Given the description of an element on the screen output the (x, y) to click on. 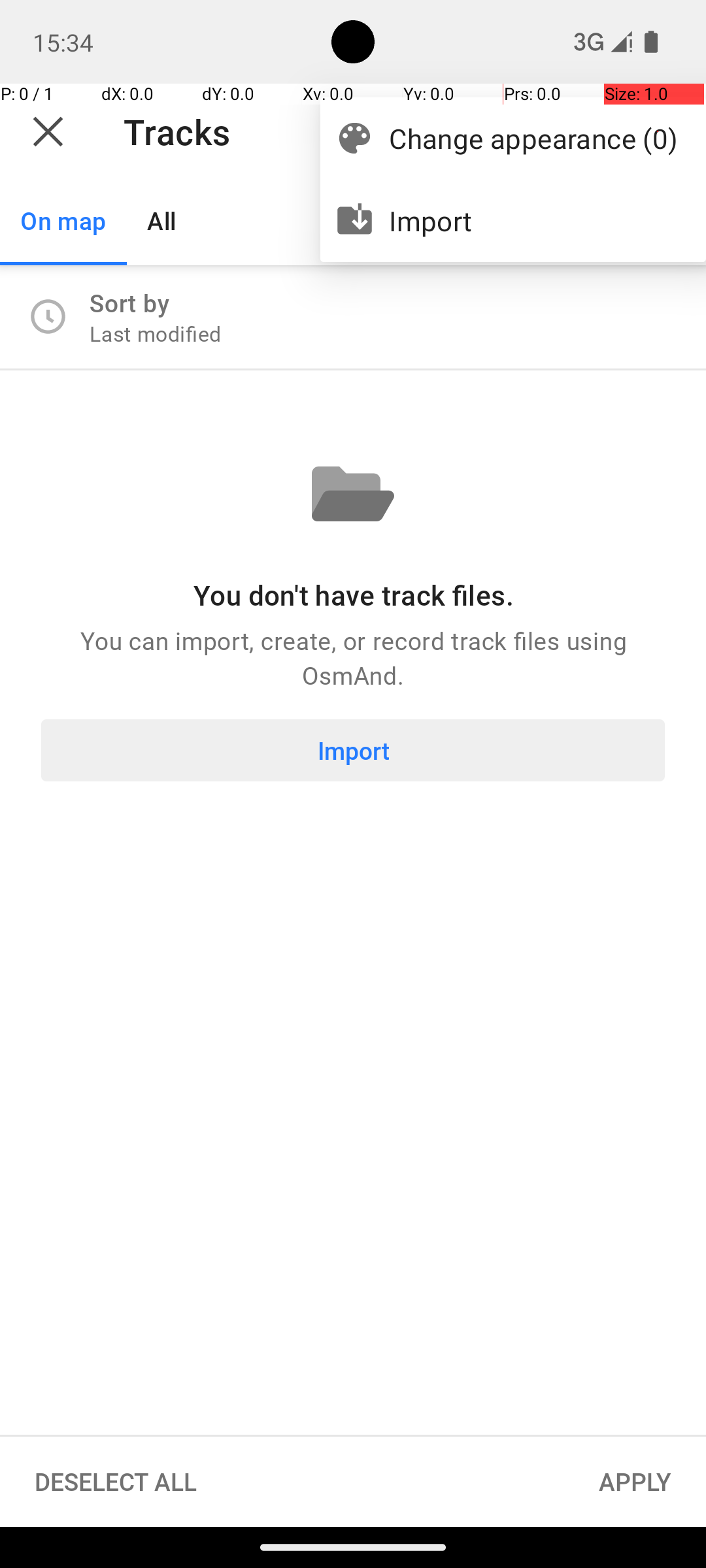
Change appearance (0) Element type: android.widget.TextView (533, 137)
Import Element type: android.widget.TextView (533, 220)
